Given the description of an element on the screen output the (x, y) to click on. 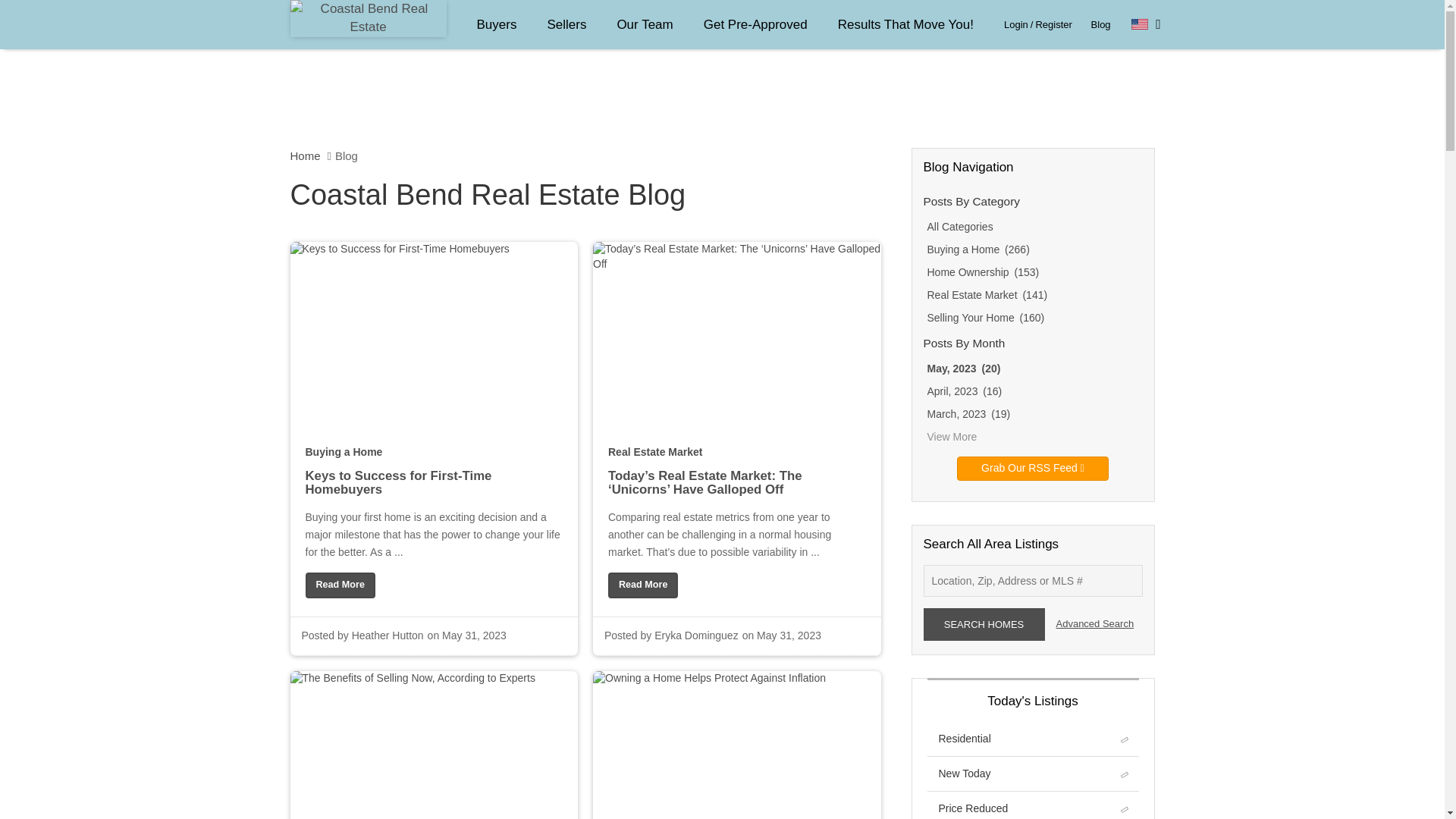
Results That Move You! (905, 24)
Buyers (496, 24)
Select Language (1145, 24)
Blog (1100, 24)
Sellers (566, 24)
Keys to Success for First-Time Homebuyers (433, 494)
Keys to Success for First-Time Homebuyers (339, 585)
Register (1053, 24)
Get Pre-Approved (755, 24)
Our Team (644, 24)
